Given the description of an element on the screen output the (x, y) to click on. 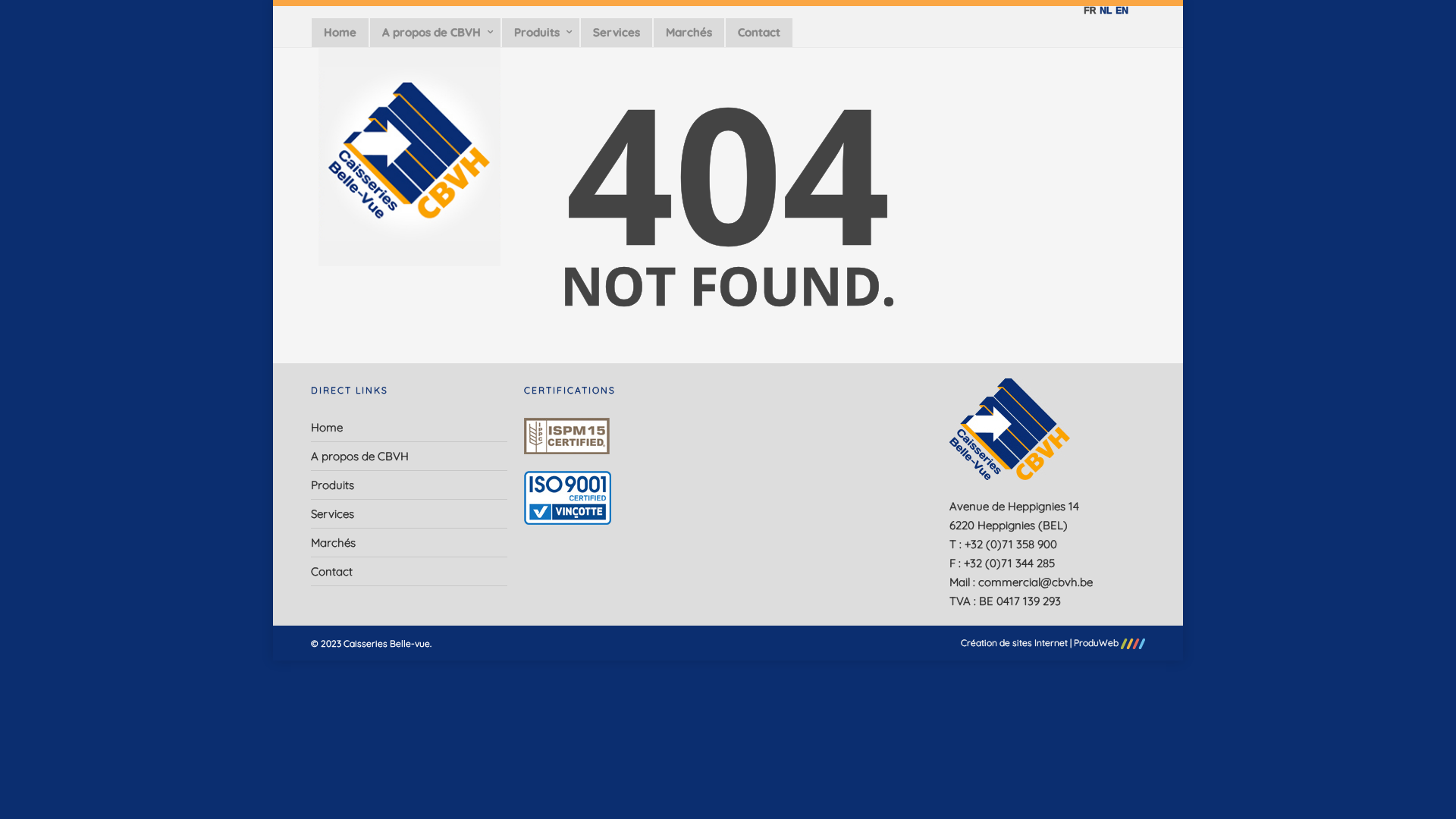
Produits Element type: text (408, 484)
Produits Element type: text (540, 32)
commercial@cbvh.be Element type: text (1035, 581)
Contact Element type: text (408, 571)
EN Element type: text (1119, 10)
Contact Element type: text (758, 32)
Services Element type: text (408, 513)
NL Element type: text (1103, 10)
Services Element type: text (616, 32)
Home Element type: text (408, 429)
A propos de CBVH Element type: text (435, 32)
FR Element type: text (1087, 10)
Home Element type: text (339, 32)
A propos de CBVH Element type: text (408, 456)
